Given the description of an element on the screen output the (x, y) to click on. 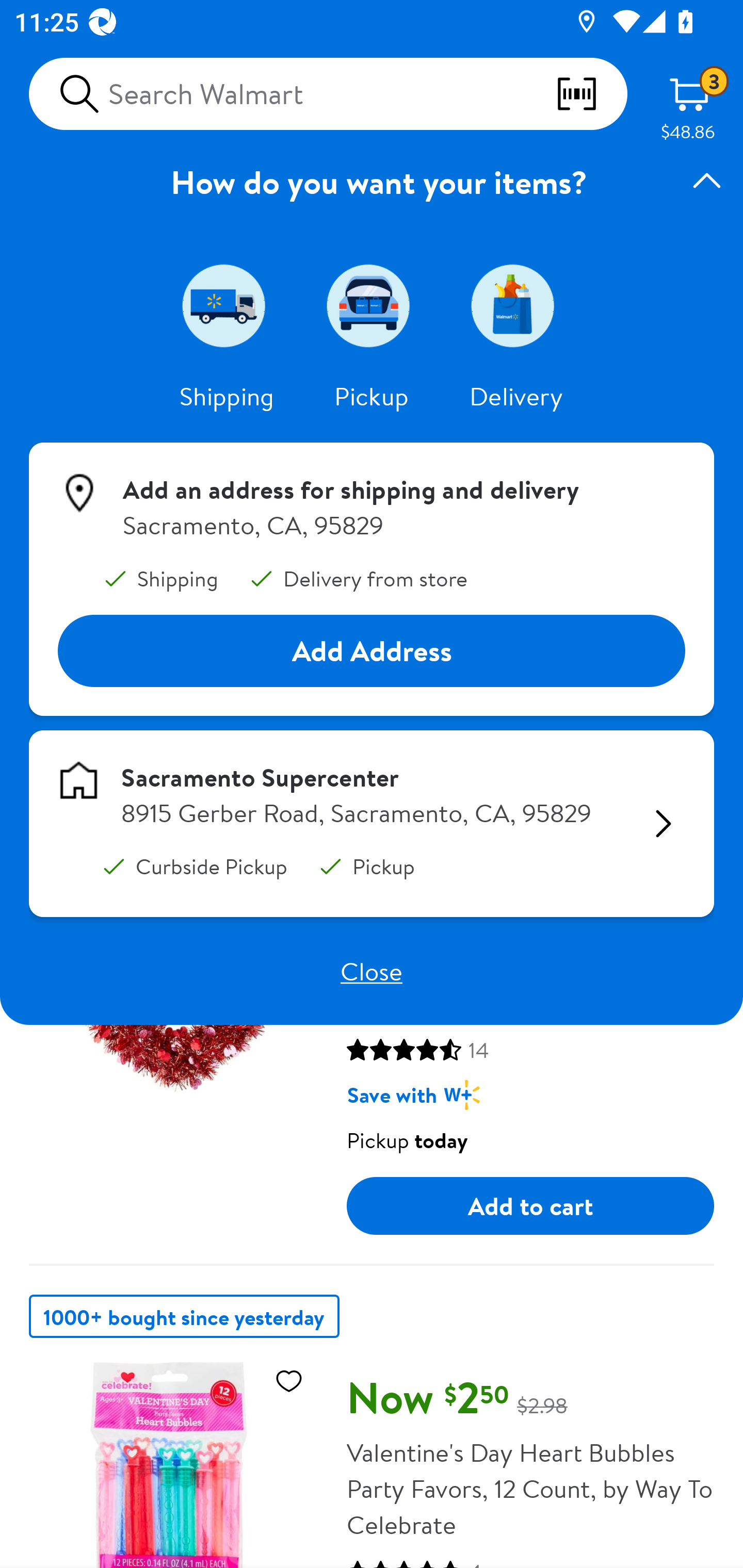
Search Walmart scan barcodes qr codes and more (327, 94)
scan barcodes qr codes and more (591, 94)
How do you want your items? expanded (371, 181)
Shipping 1 of 3 (226, 305)
Pickup 2 of 3 (371, 305)
Delivery 3 of 3 (515, 305)
Add Address (371, 650)
Close (371, 970)
Add to cart (530, 1206)
